Given the description of an element on the screen output the (x, y) to click on. 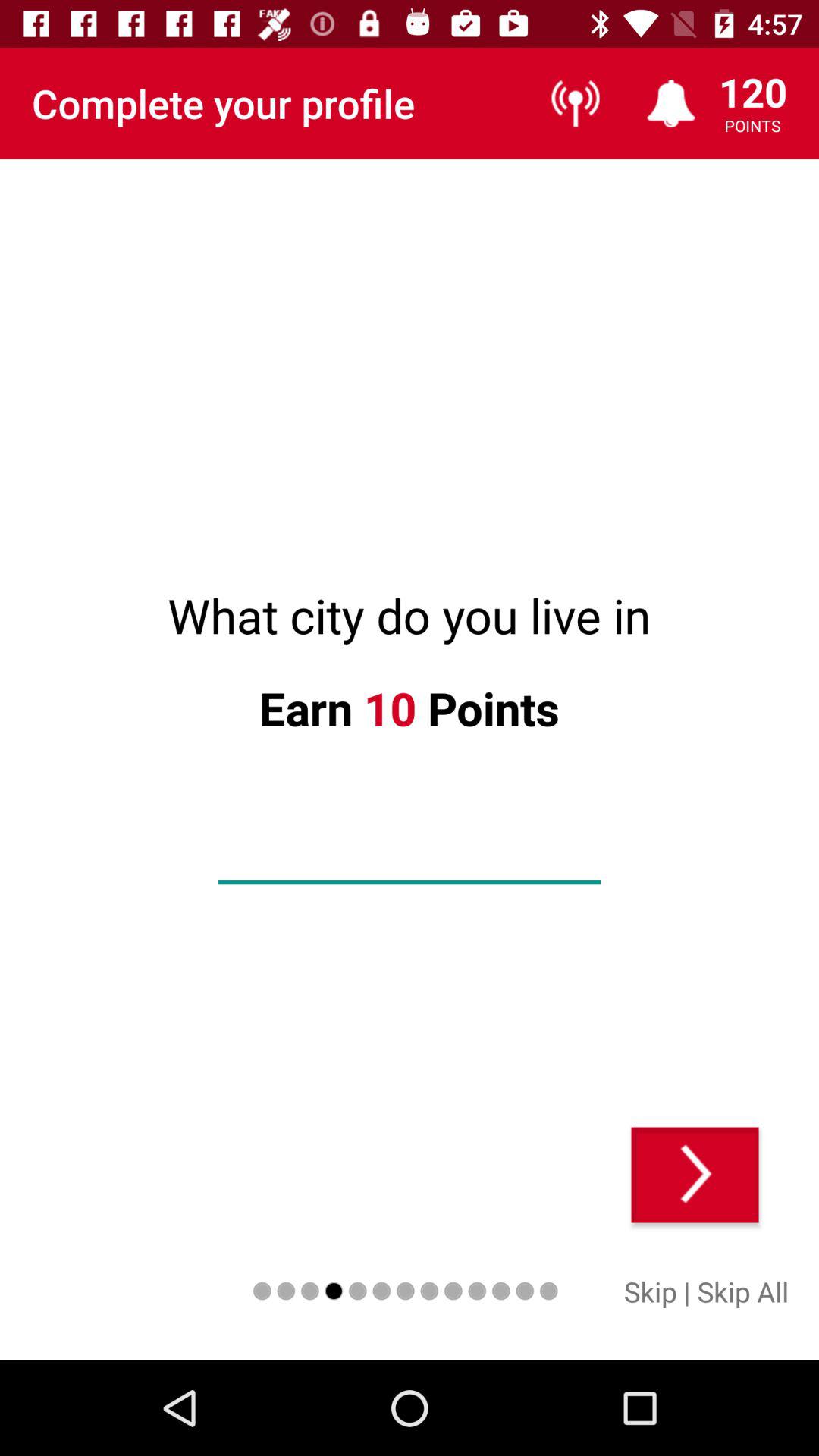
launch the skip all icon (742, 1291)
